Given the description of an element on the screen output the (x, y) to click on. 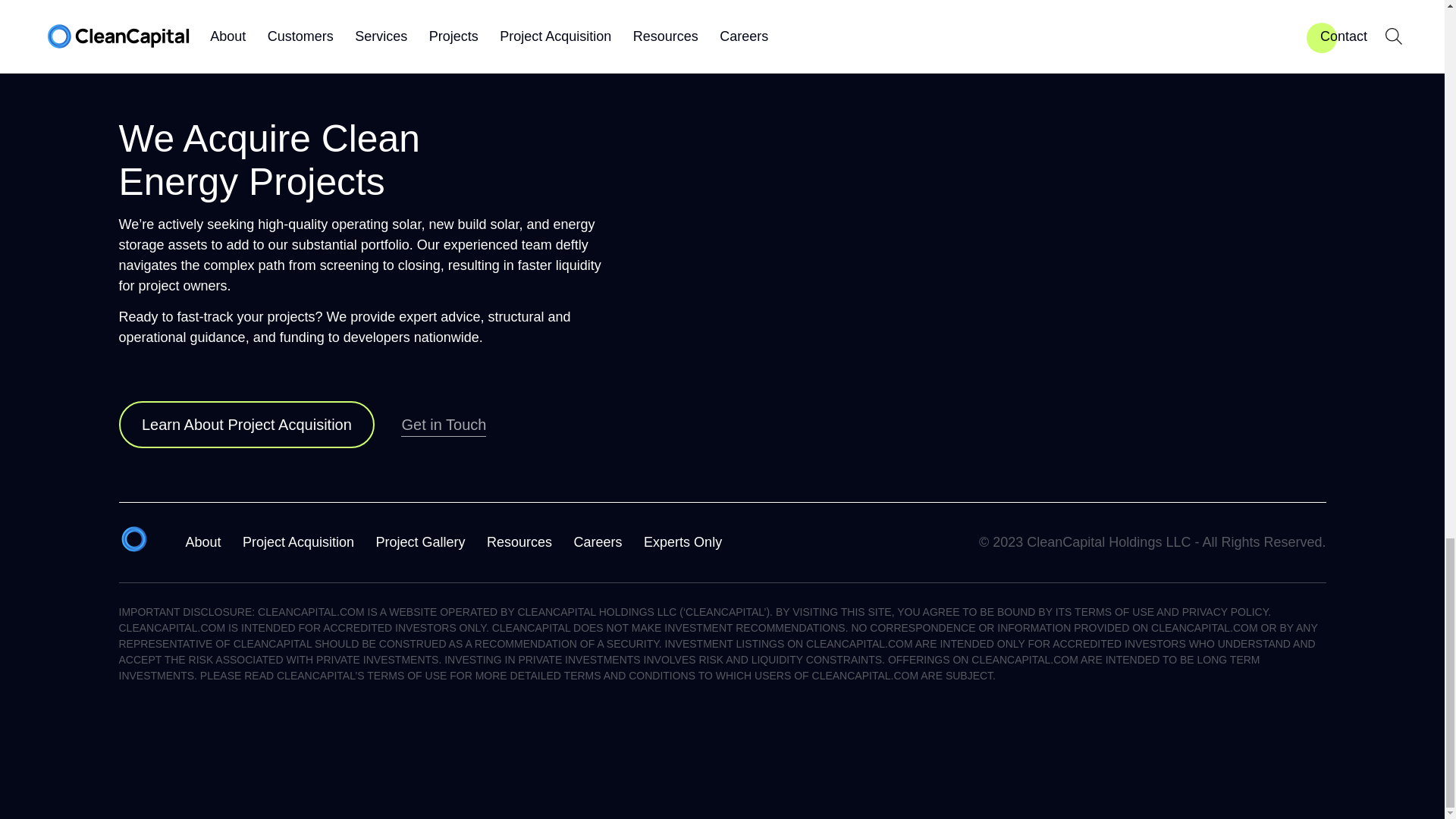
About (202, 541)
Get in Touch (443, 424)
Learn About Project Acquisition (245, 424)
